Given the description of an element on the screen output the (x, y) to click on. 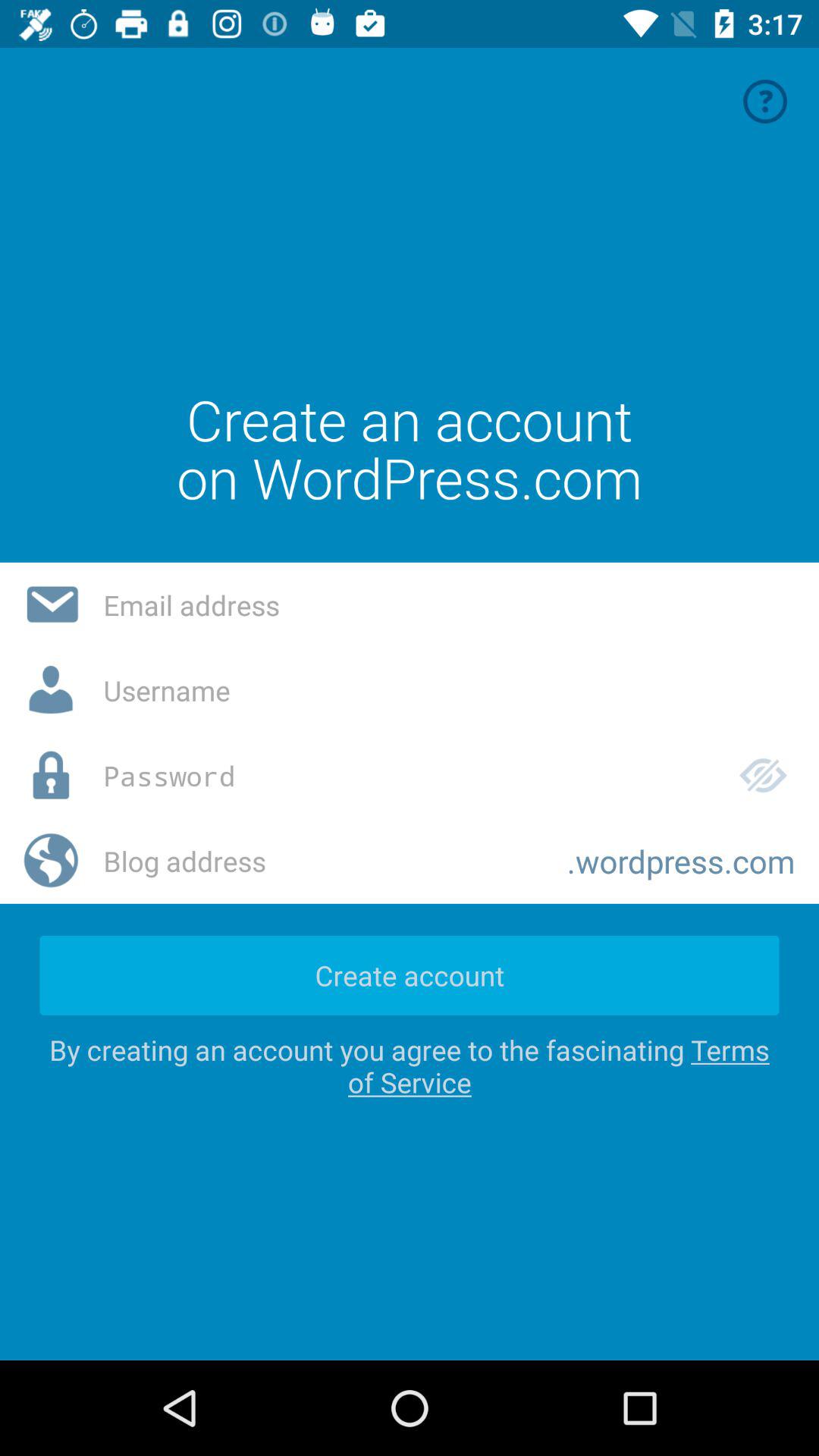
text box (449, 690)
